Given the description of an element on the screen output the (x, y) to click on. 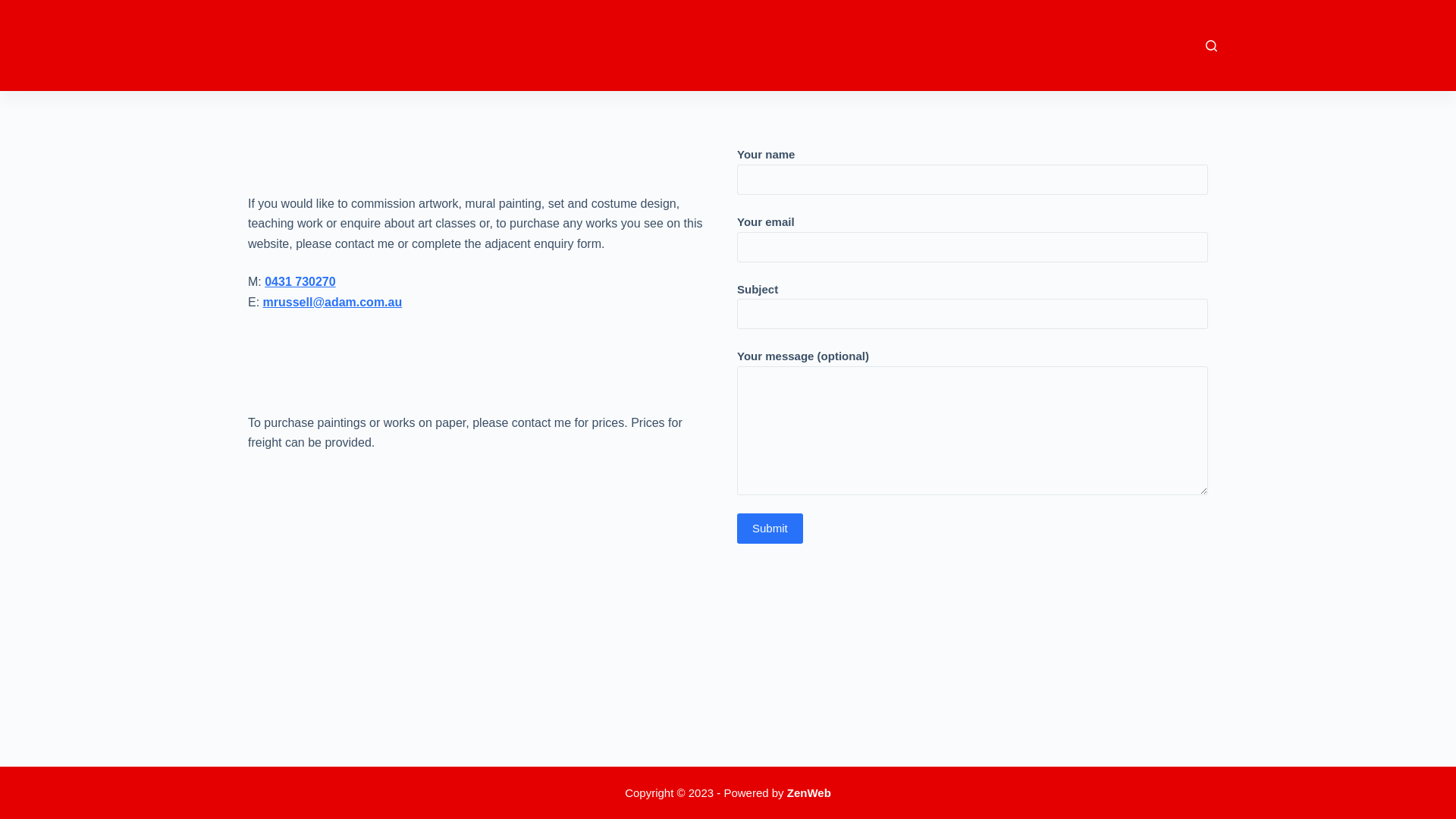
Meredith Russell Element type: text (307, 37)
VISUAL ART Element type: text (878, 45)
0431 730270 Element type: text (299, 281)
Skip to content Element type: text (15, 7)
SET AND COSTUME Element type: text (966, 45)
Submit Element type: text (770, 528)
PUBLIC ART Element type: text (1057, 45)
HOME Element type: text (766, 45)
mrussell@adam.com.au Element type: text (332, 301)
CV Element type: text (1110, 45)
ABOUT Element type: text (815, 45)
ZenWeb Element type: text (809, 791)
CONTACT Element type: text (1158, 45)
